Given the description of an element on the screen output the (x, y) to click on. 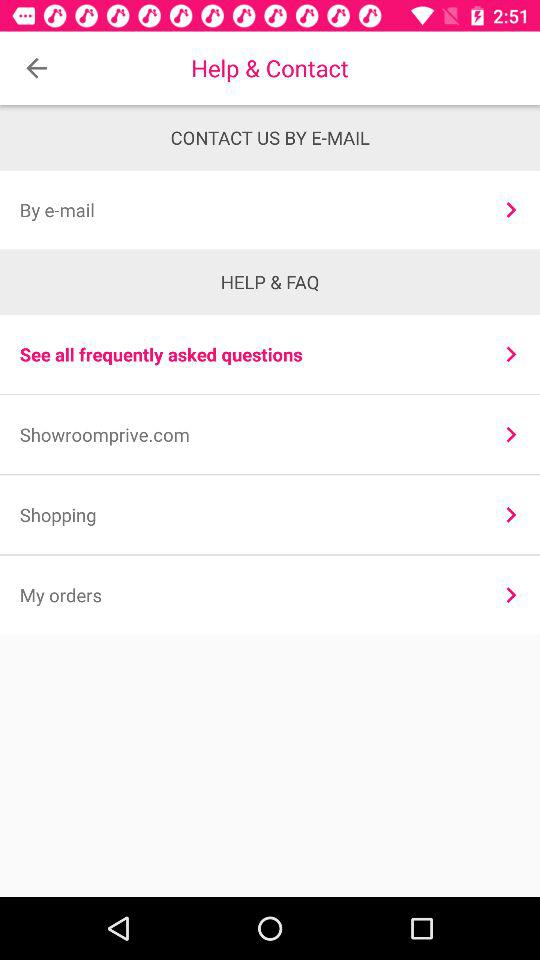
select icon to the right of the shopping item (510, 514)
